Given the description of an element on the screen output the (x, y) to click on. 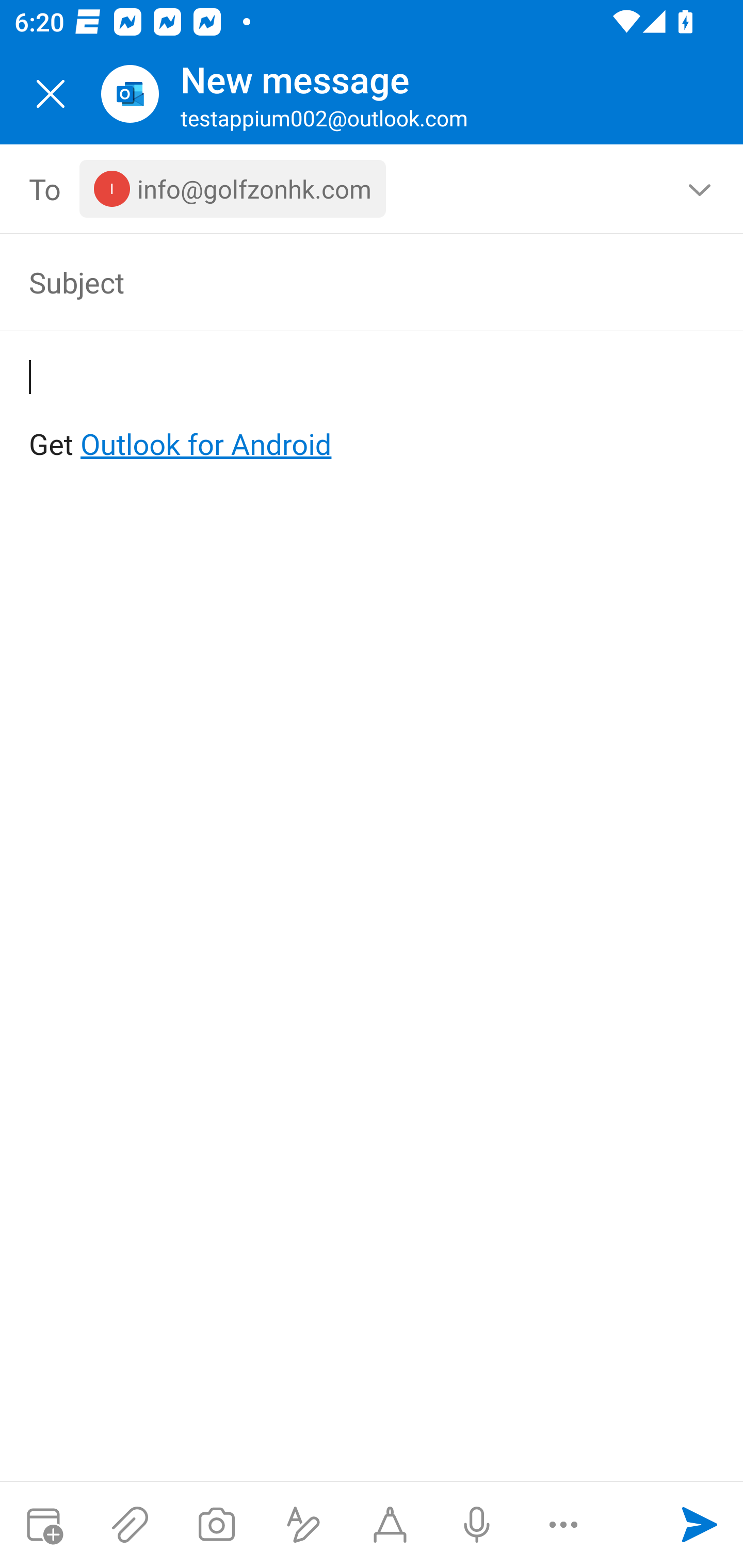
Close (50, 93)
Subject (342, 281)


Get Outlook for Android (372, 411)
Attach meeting (43, 1524)
Attach files (129, 1524)
Take a photo (216, 1524)
Show formatting options (303, 1524)
Start Ink compose (389, 1524)
Dictation (476, 1524)
More options (563, 1524)
Send (699, 1524)
